Given the description of an element on the screen output the (x, y) to click on. 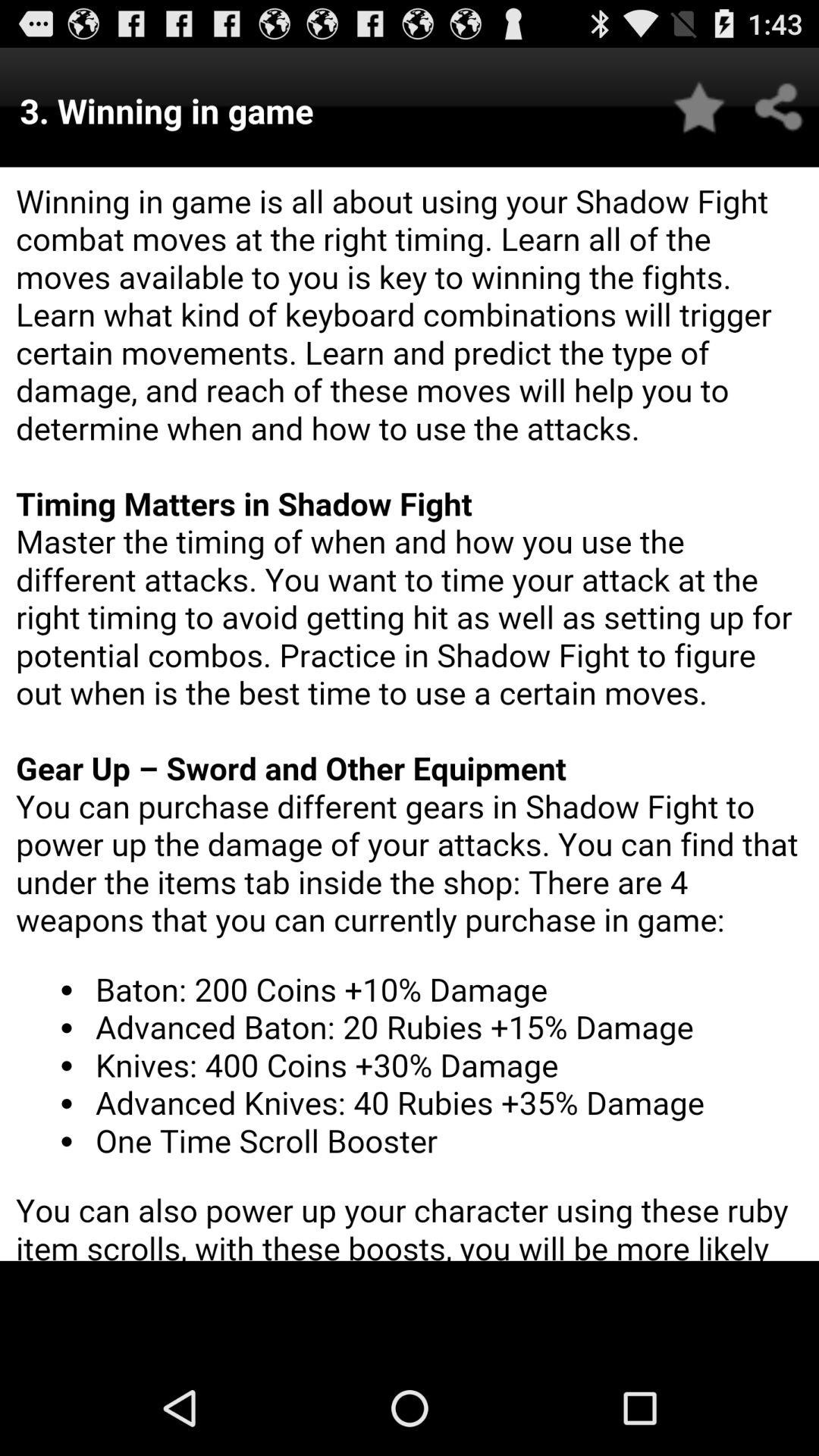
share the article (779, 107)
